Given the description of an element on the screen output the (x, y) to click on. 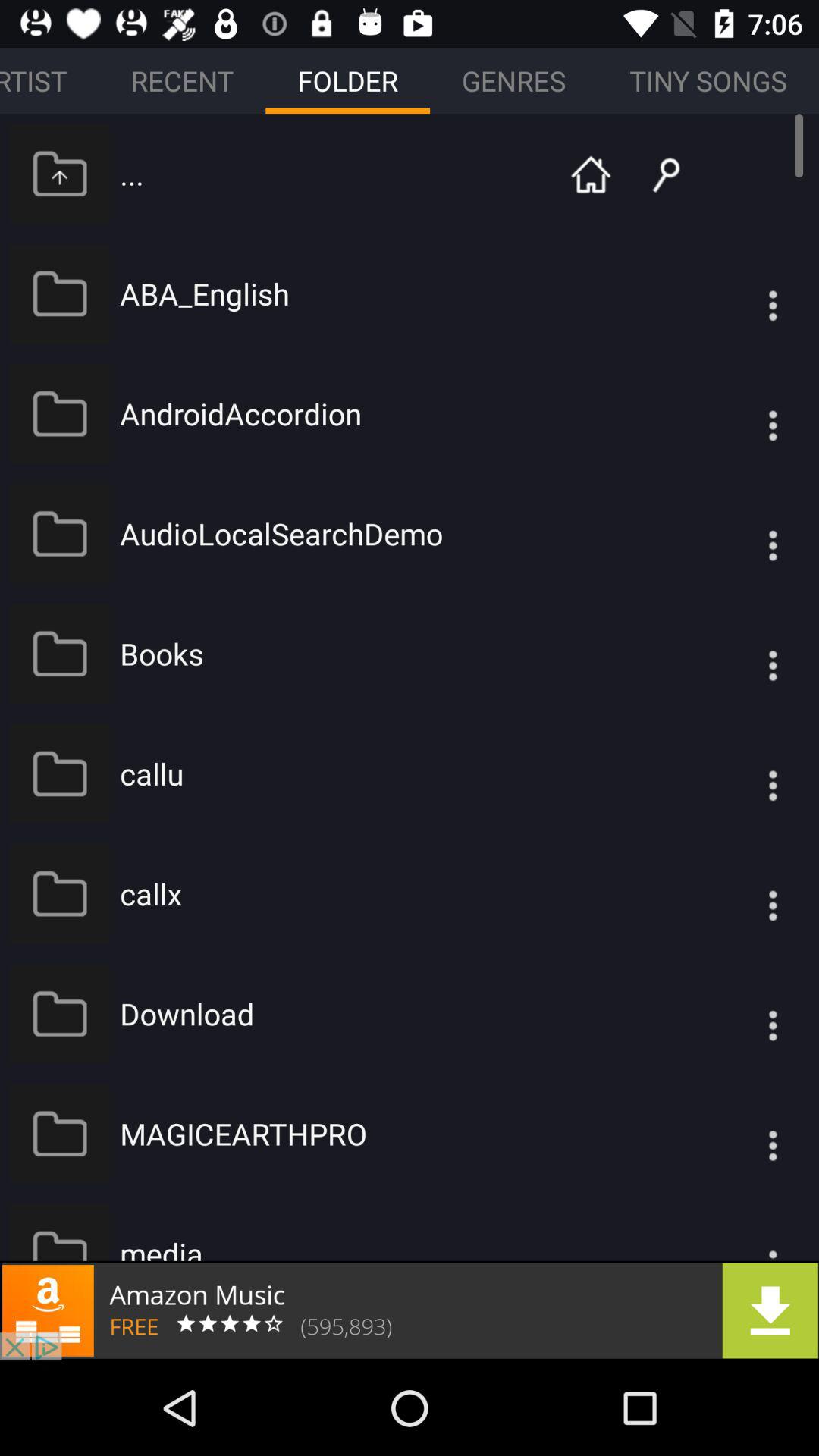
search files (654, 173)
